Given the description of an element on the screen output the (x, y) to click on. 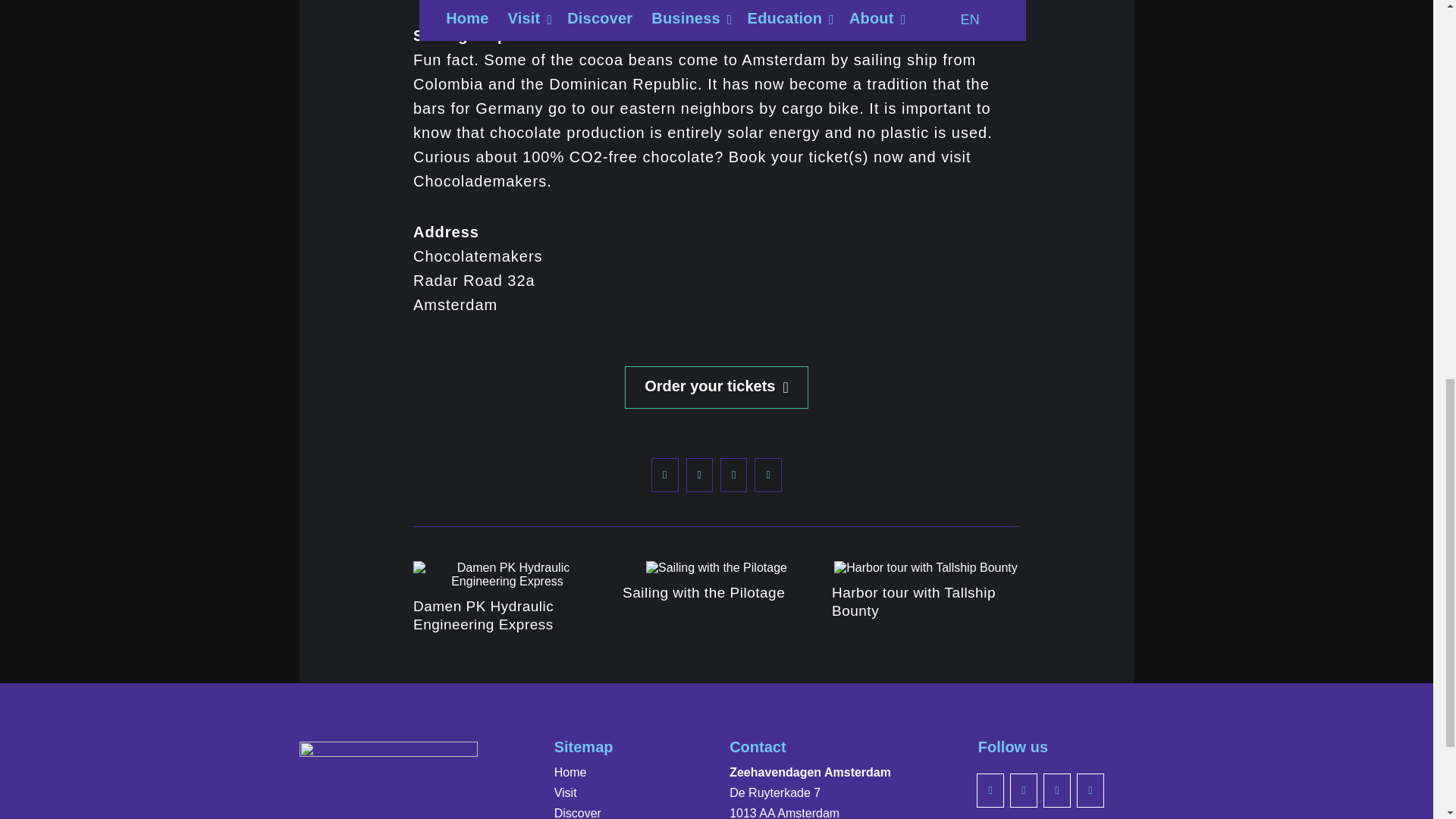
Harbor tour with Tallship Bounty (913, 601)
Sailing with the Pilotage (703, 592)
Order your tickets (716, 387)
Visit (608, 792)
Sailing with the Pilotage (703, 592)
Damen PK Hydraulic Engineering Express (483, 615)
Home (608, 771)
Damen PK Hydraulic Engineering Express (483, 615)
Harbor tour with Tallship Bounty (913, 601)
